Given the description of an element on the screen output the (x, y) to click on. 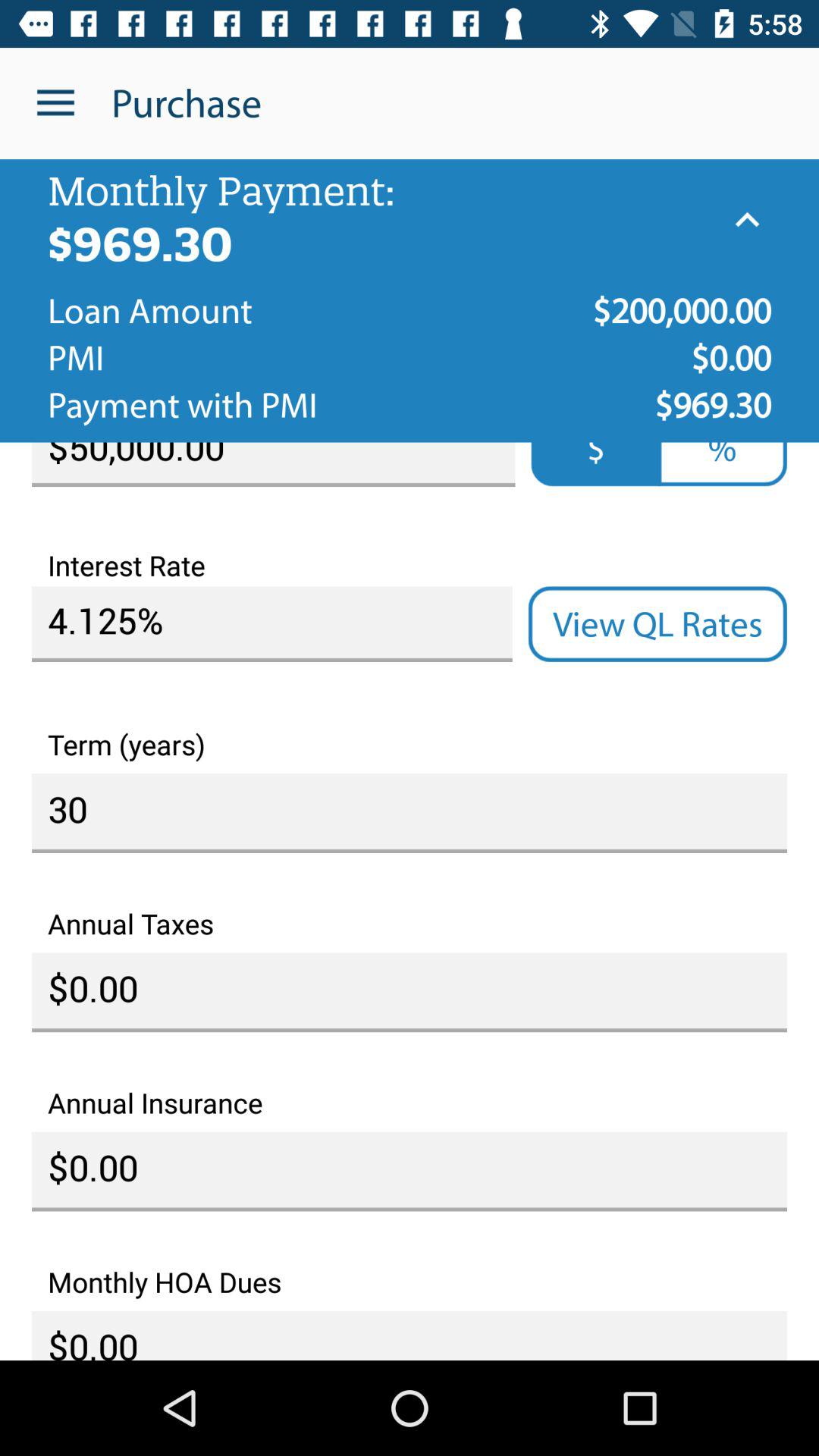
tap the view ql rates (657, 624)
